Given the description of an element on the screen output the (x, y) to click on. 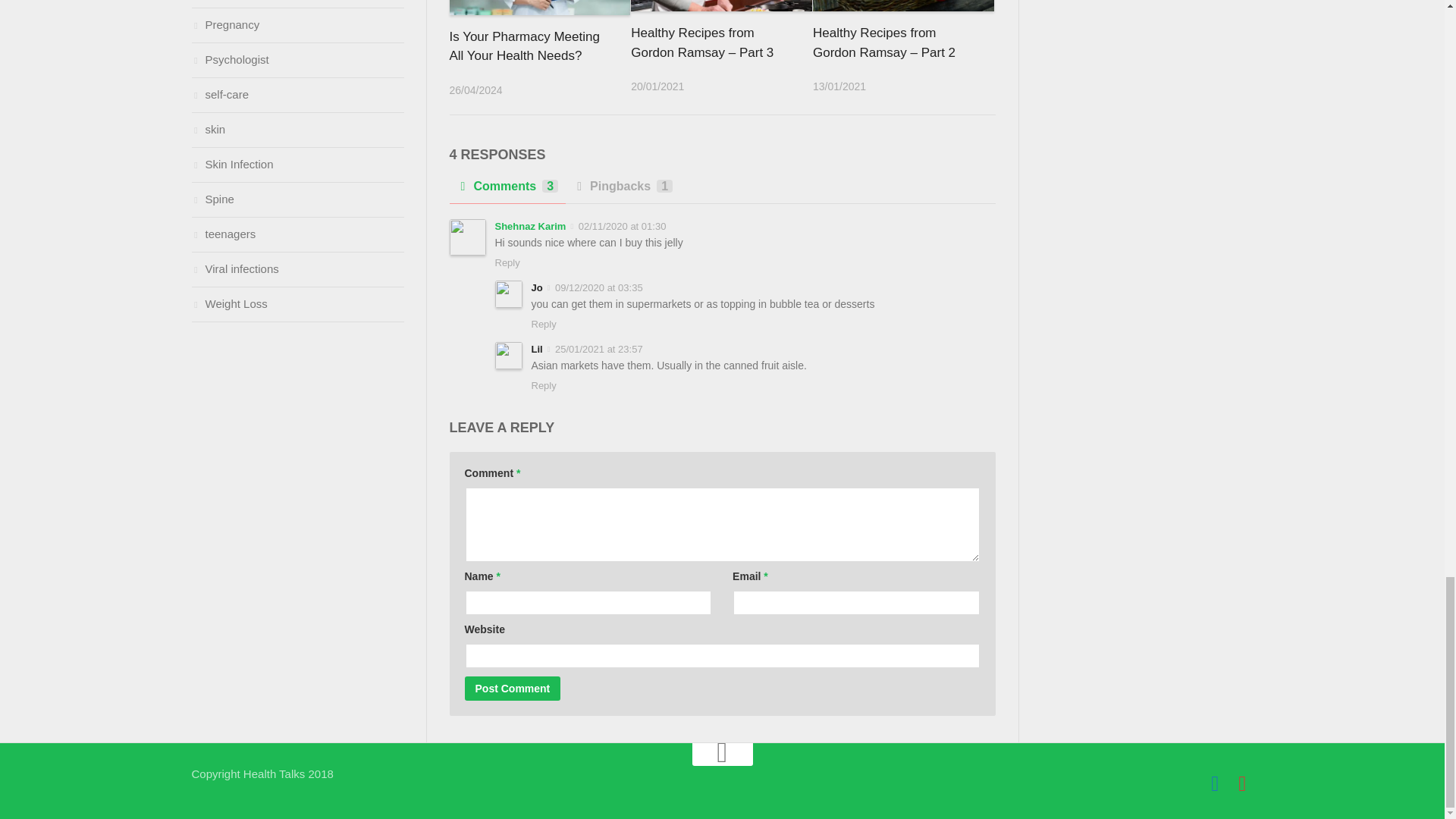
Post Comment (512, 688)
Facebook (1214, 783)
Is Your Pharmacy Meeting All Your Health Needs? (523, 46)
